Given the description of an element on the screen output the (x, y) to click on. 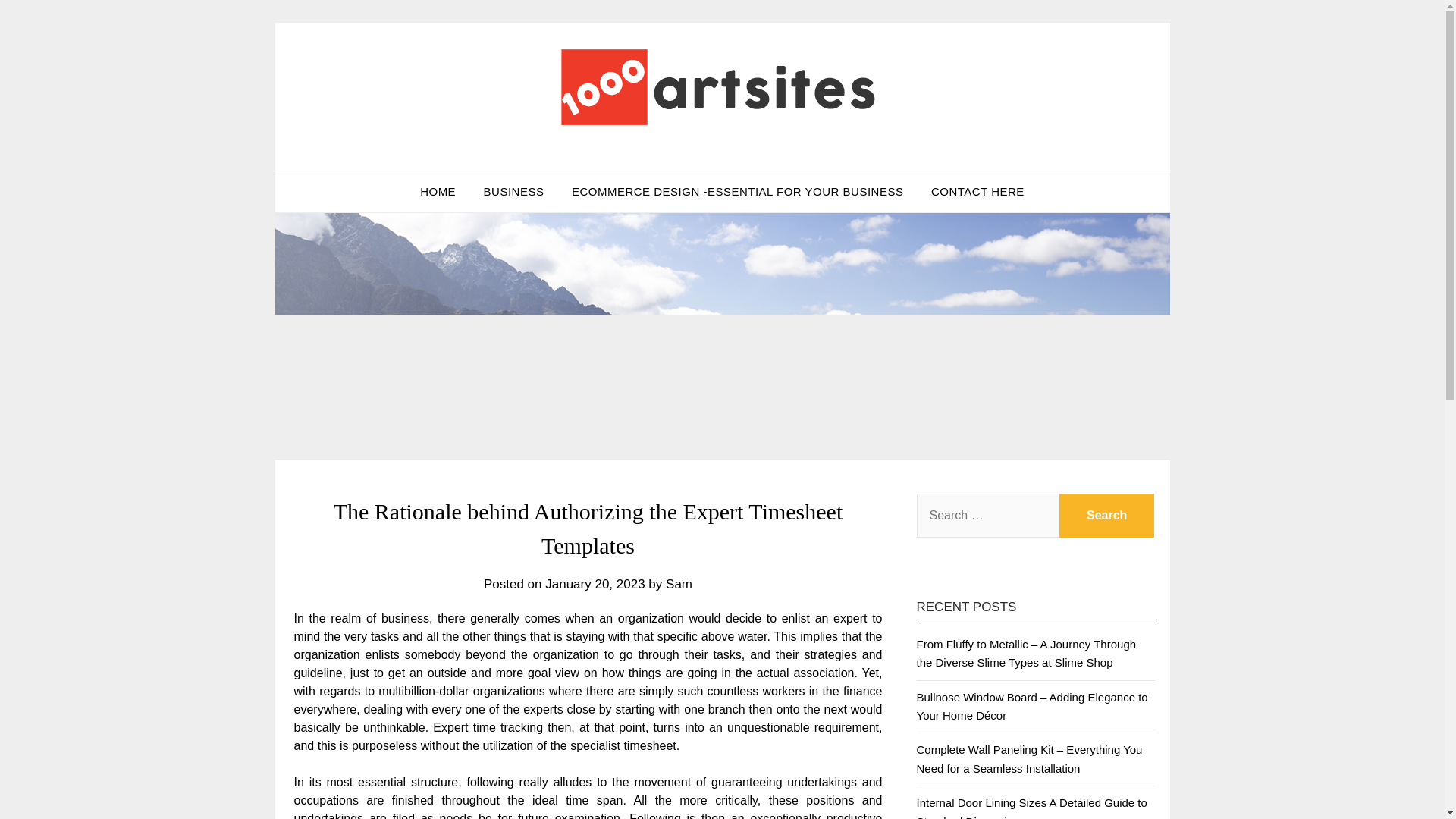
Search (1106, 515)
January 20, 2023 (594, 584)
Search (1106, 515)
BUSINESS (513, 191)
Search (1106, 515)
Sam (679, 584)
CONTACT HERE (977, 191)
HOME (437, 191)
ECOMMERCE DESIGN -ESSENTIAL FOR YOUR BUSINESS (737, 191)
